Given the description of an element on the screen output the (x, y) to click on. 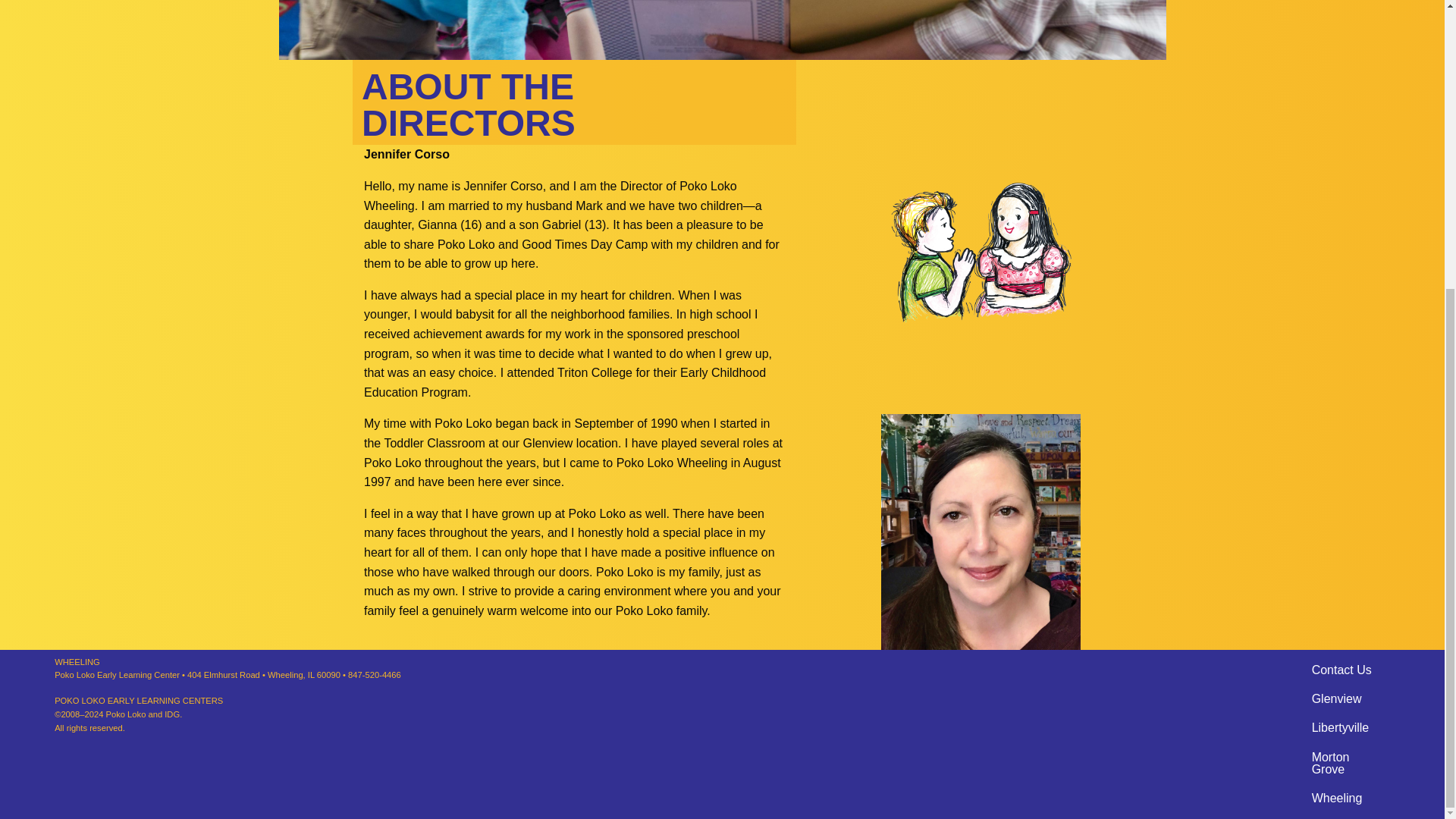
Wheeling (1337, 798)
Contact Us (1342, 670)
Morton Grove (1345, 762)
Glenview (1337, 698)
Libertyville (1340, 727)
